Given the description of an element on the screen output the (x, y) to click on. 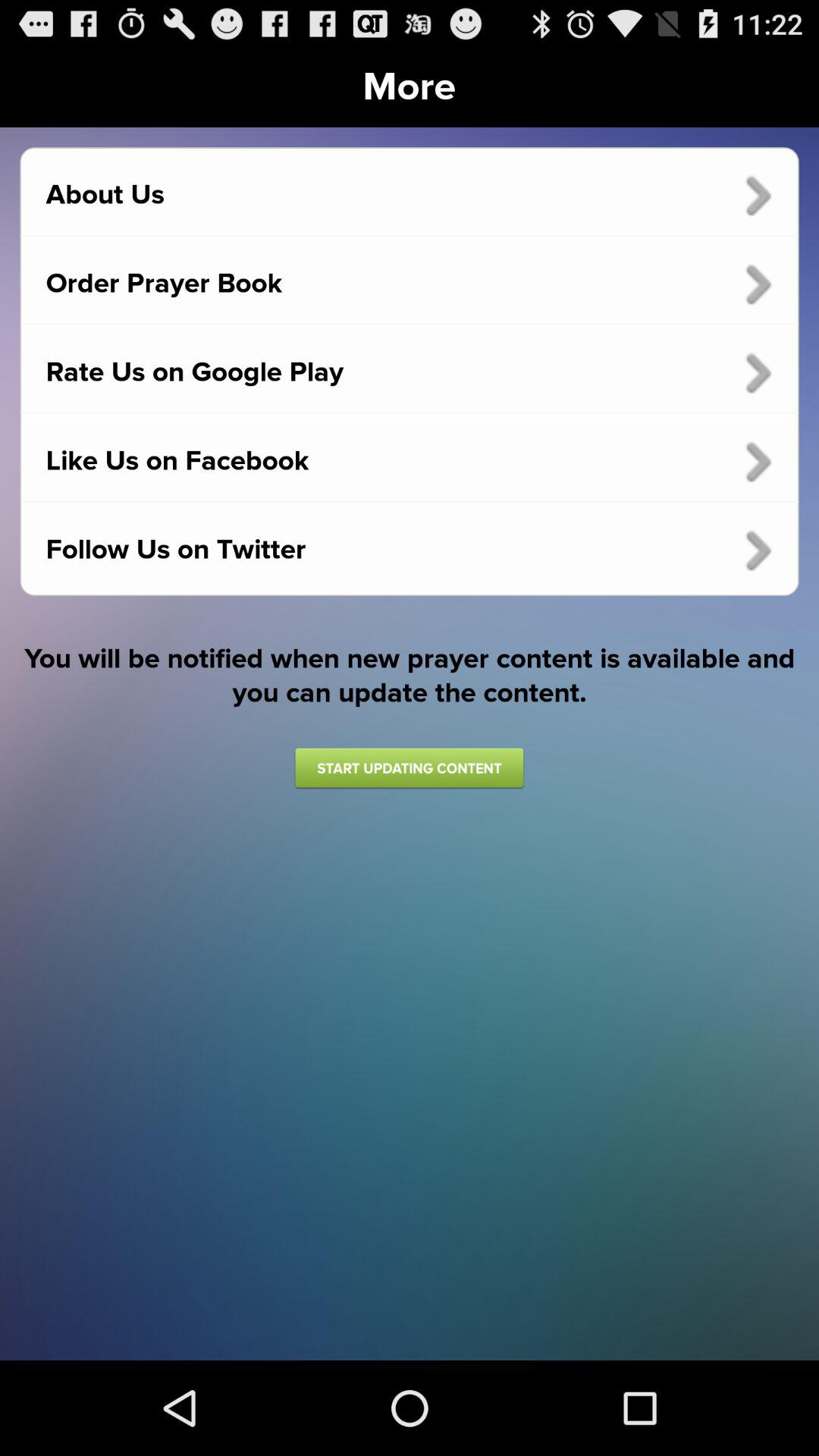
click the app below the you will be icon (409, 767)
